Given the description of an element on the screen output the (x, y) to click on. 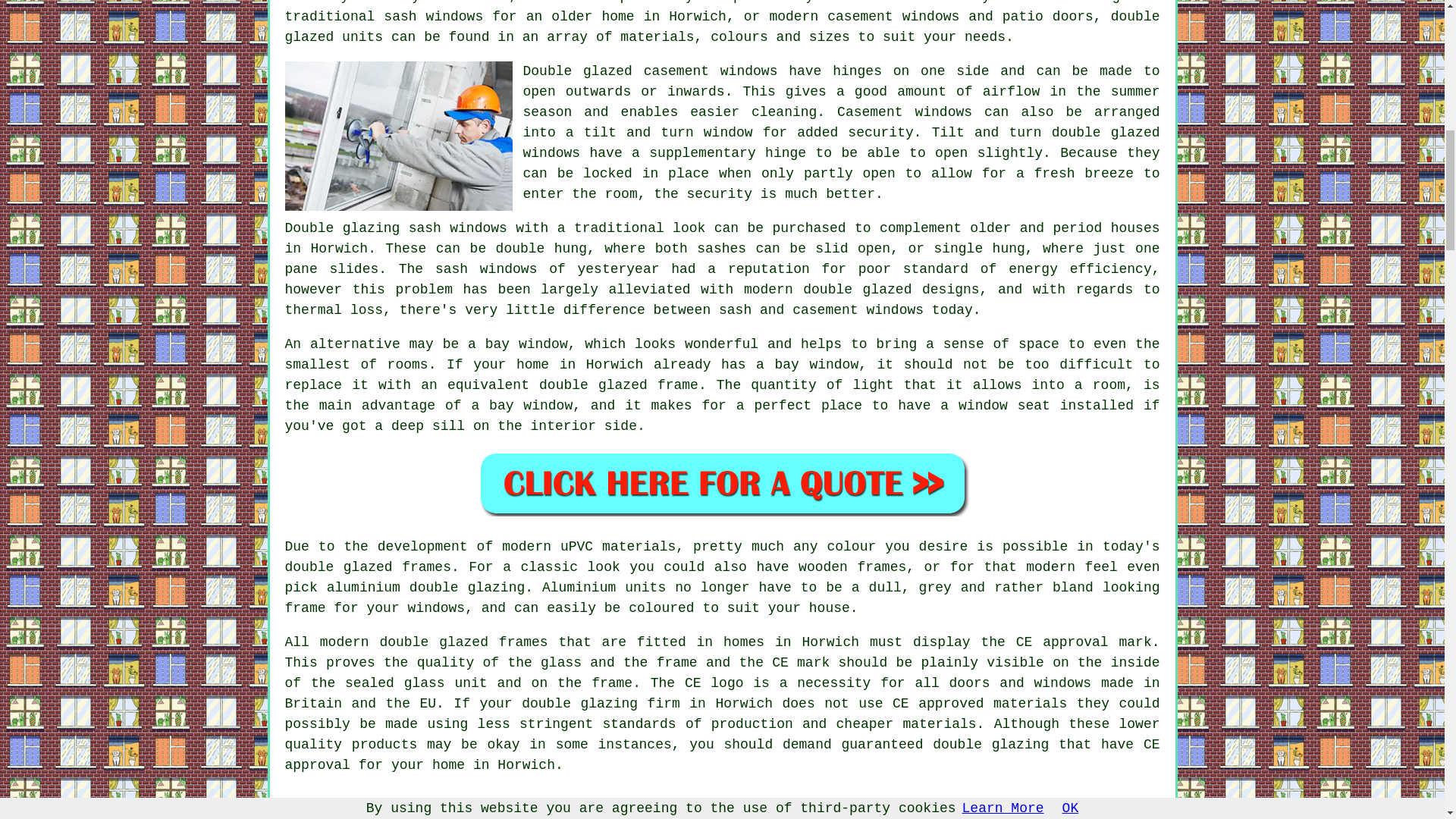
Double Glazing Quotes in Horwich Greater Manchester (722, 483)
